Given the description of an element on the screen output the (x, y) to click on. 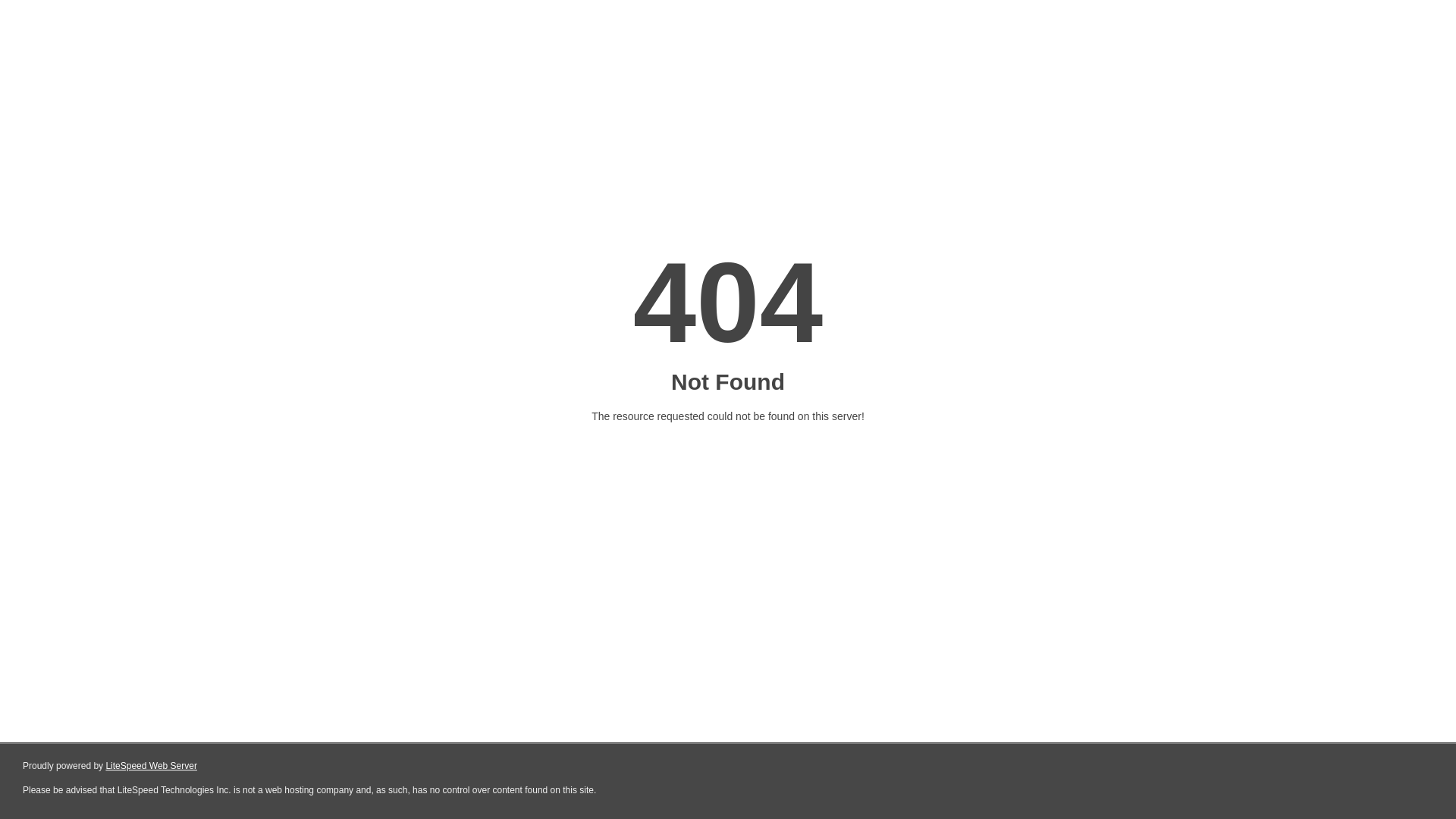
LiteSpeed Web Server Element type: text (151, 765)
